Given the description of an element on the screen output the (x, y) to click on. 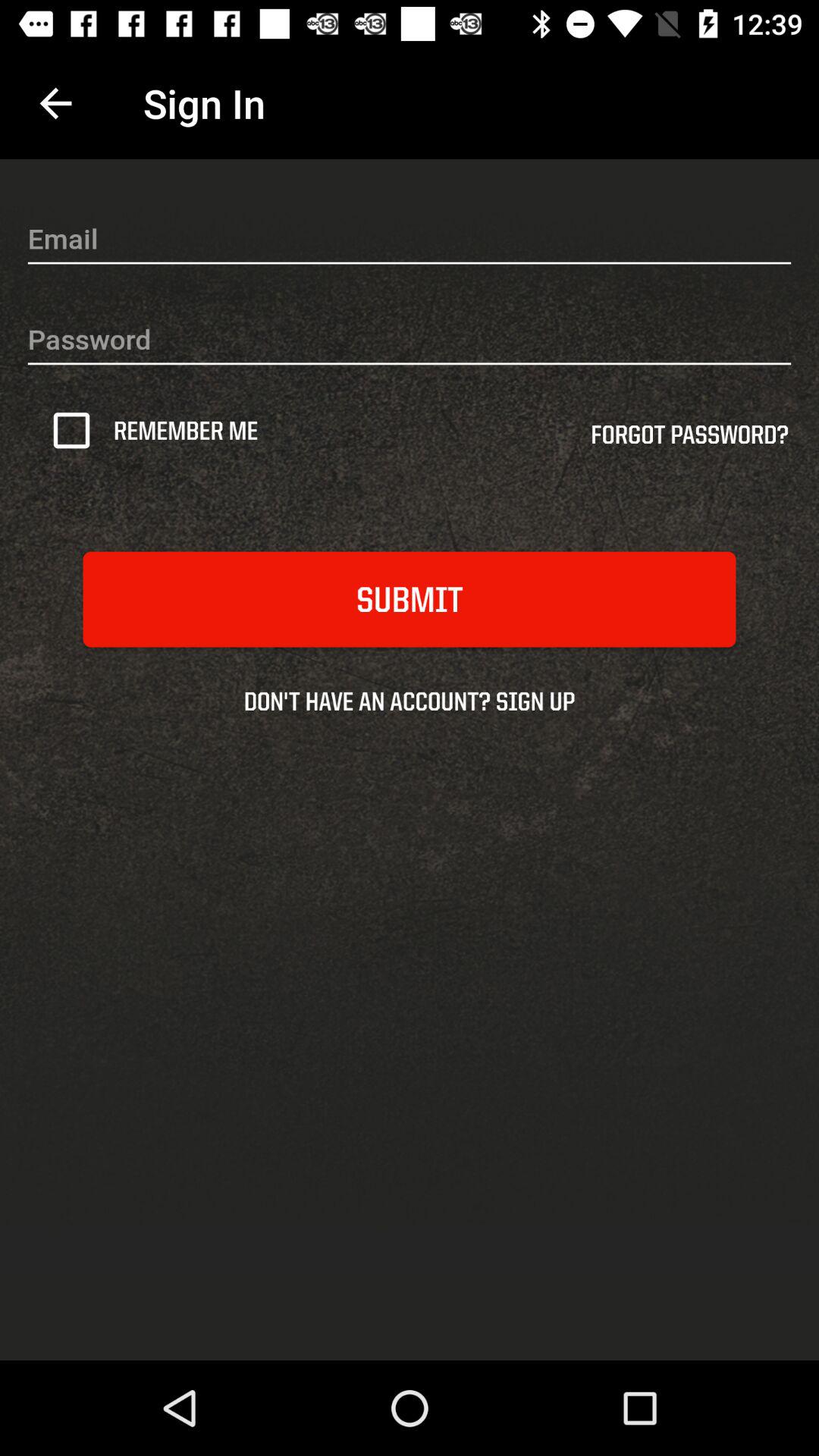
select the item below submit item (409, 700)
